Given the description of an element on the screen output the (x, y) to click on. 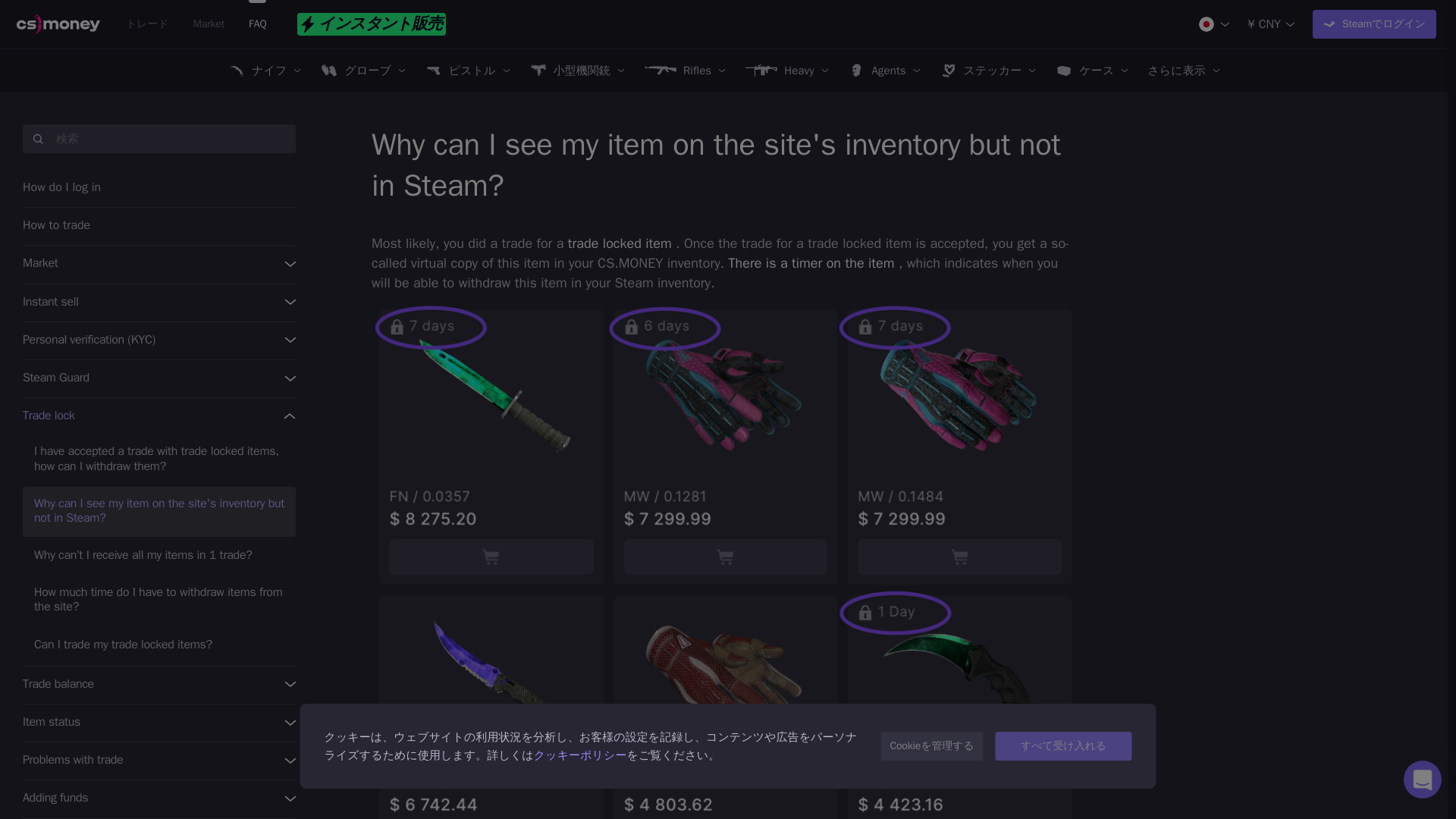
Market (207, 24)
How to trade (159, 225)
How do I log in (159, 187)
